Given the description of an element on the screen output the (x, y) to click on. 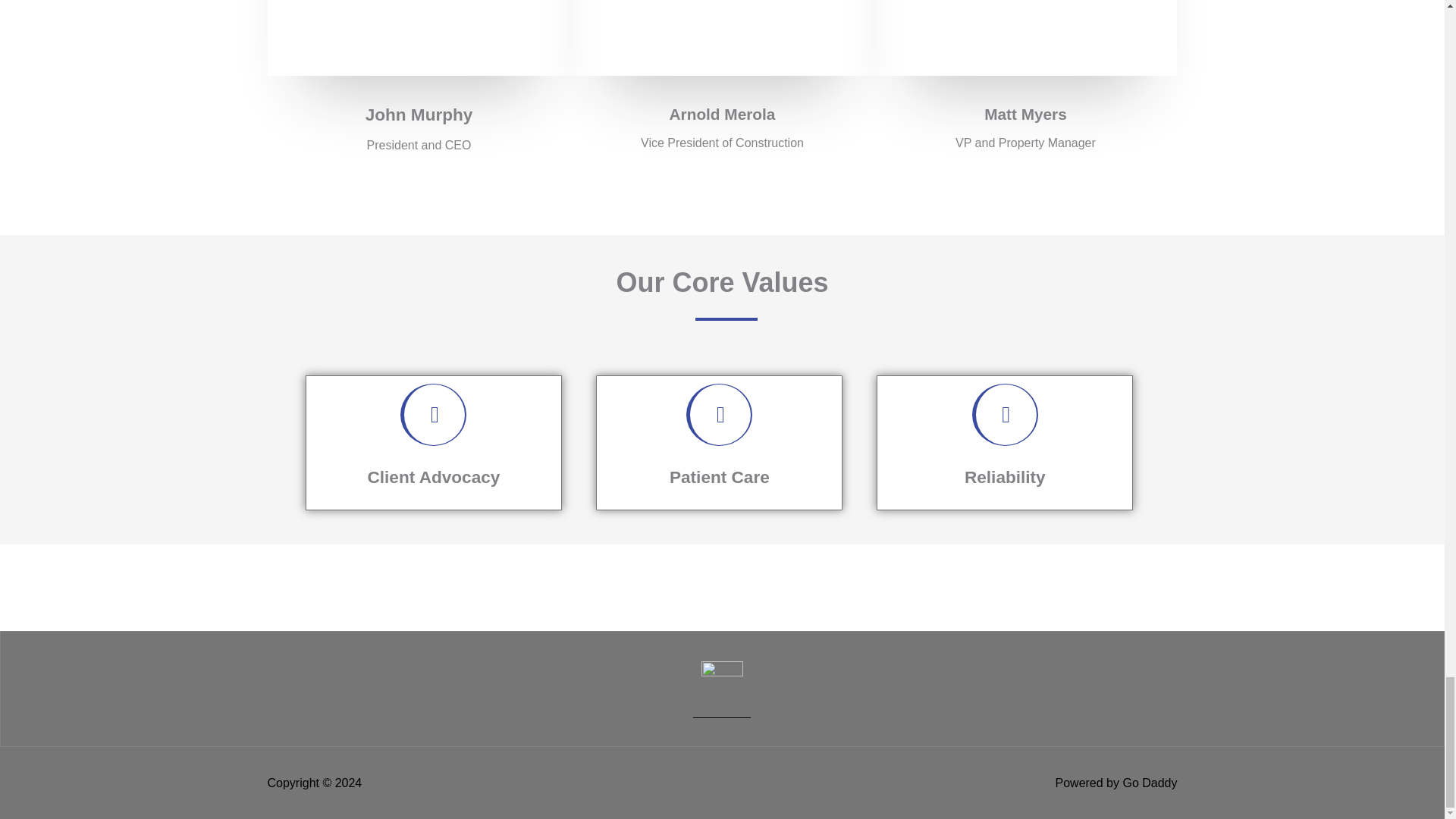
Client Advocacy (434, 476)
John Murphy (419, 114)
Patient Care (719, 476)
Reliability (1004, 476)
